Given the description of an element on the screen output the (x, y) to click on. 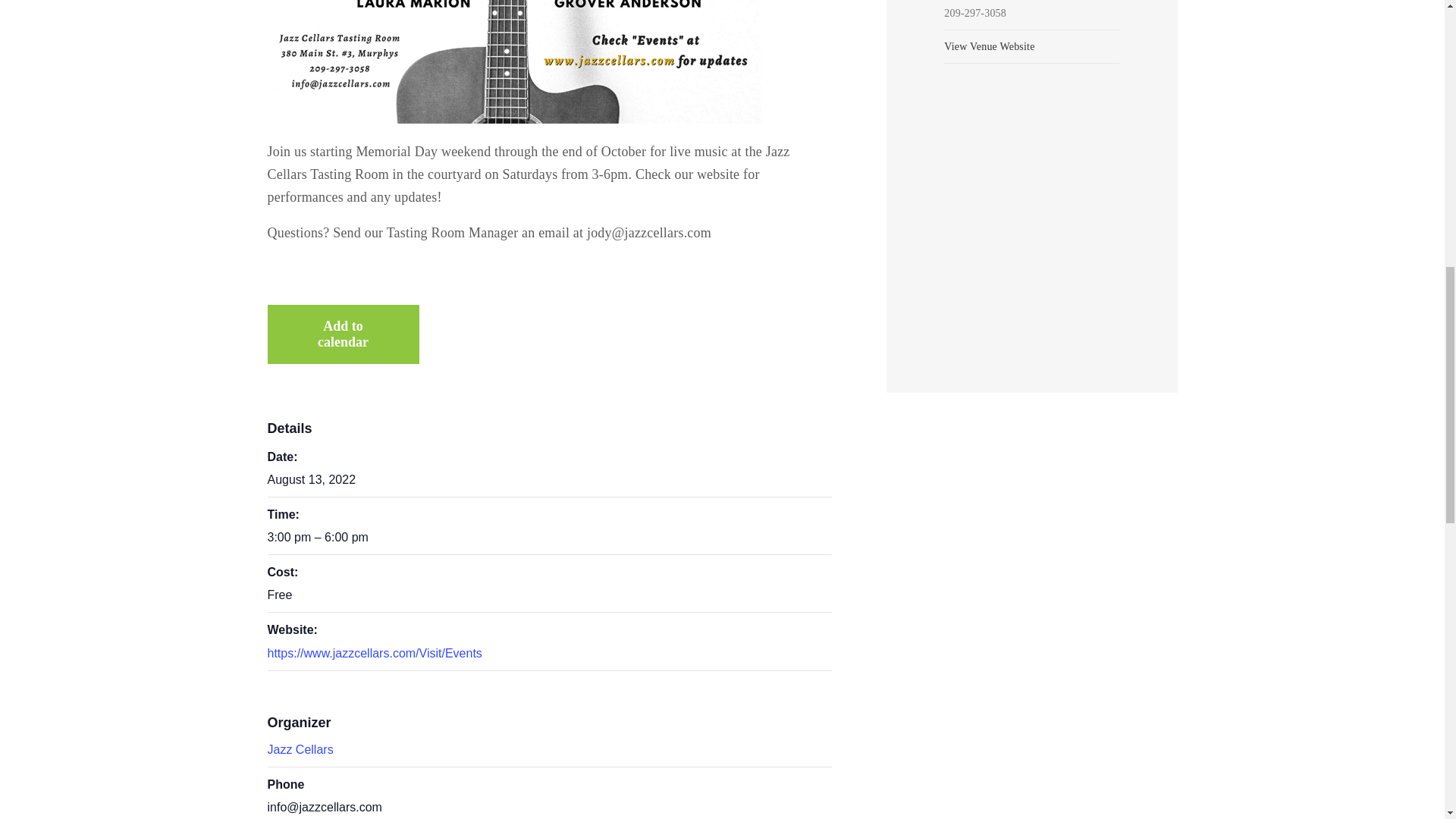
2022-08-13 (310, 479)
Jazz Cellars (299, 748)
2022-08-13 (548, 537)
